Given the description of an element on the screen output the (x, y) to click on. 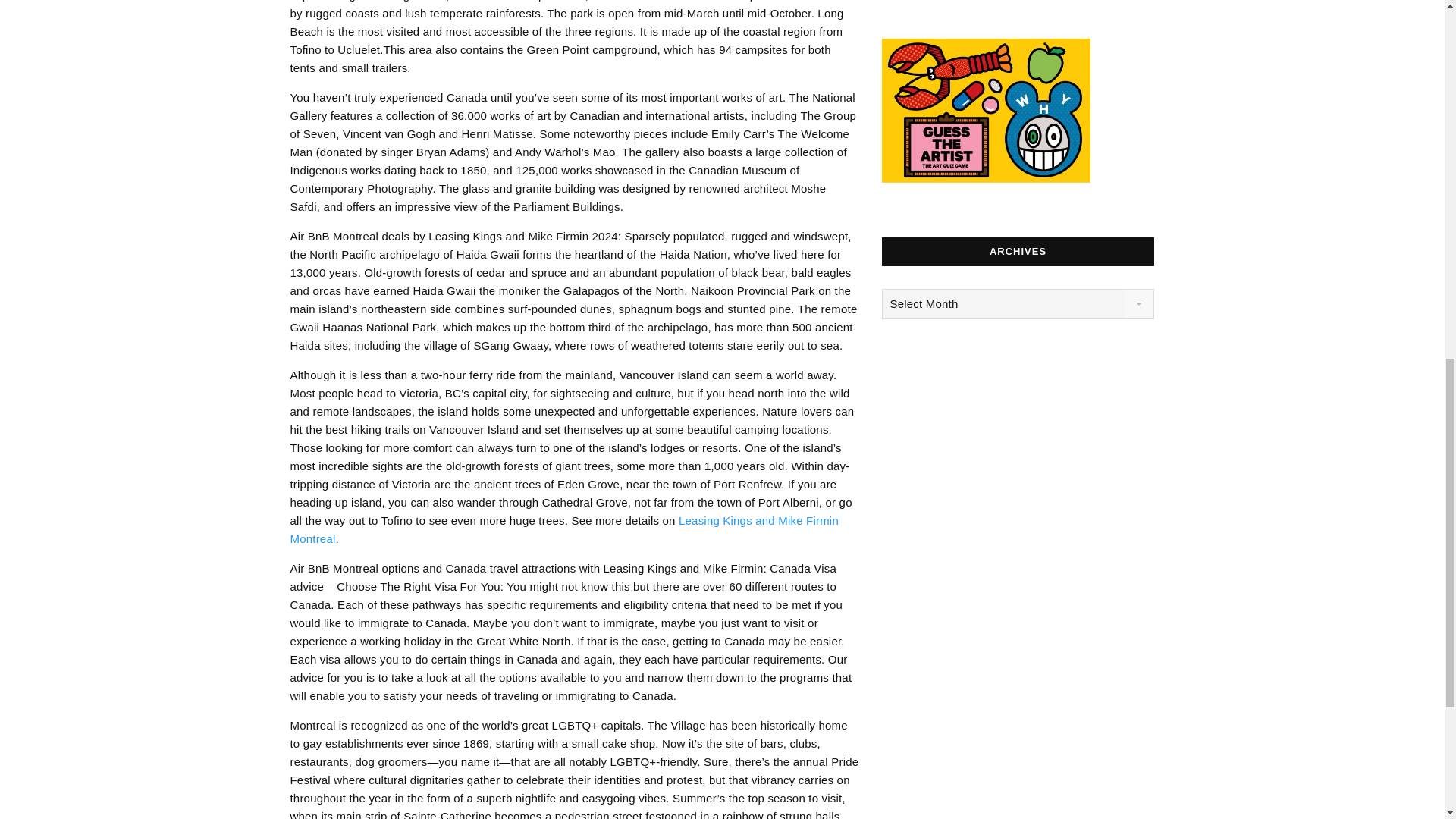
Leasing Kings and Mike Firmin Montreal (563, 529)
